Given the description of an element on the screen output the (x, y) to click on. 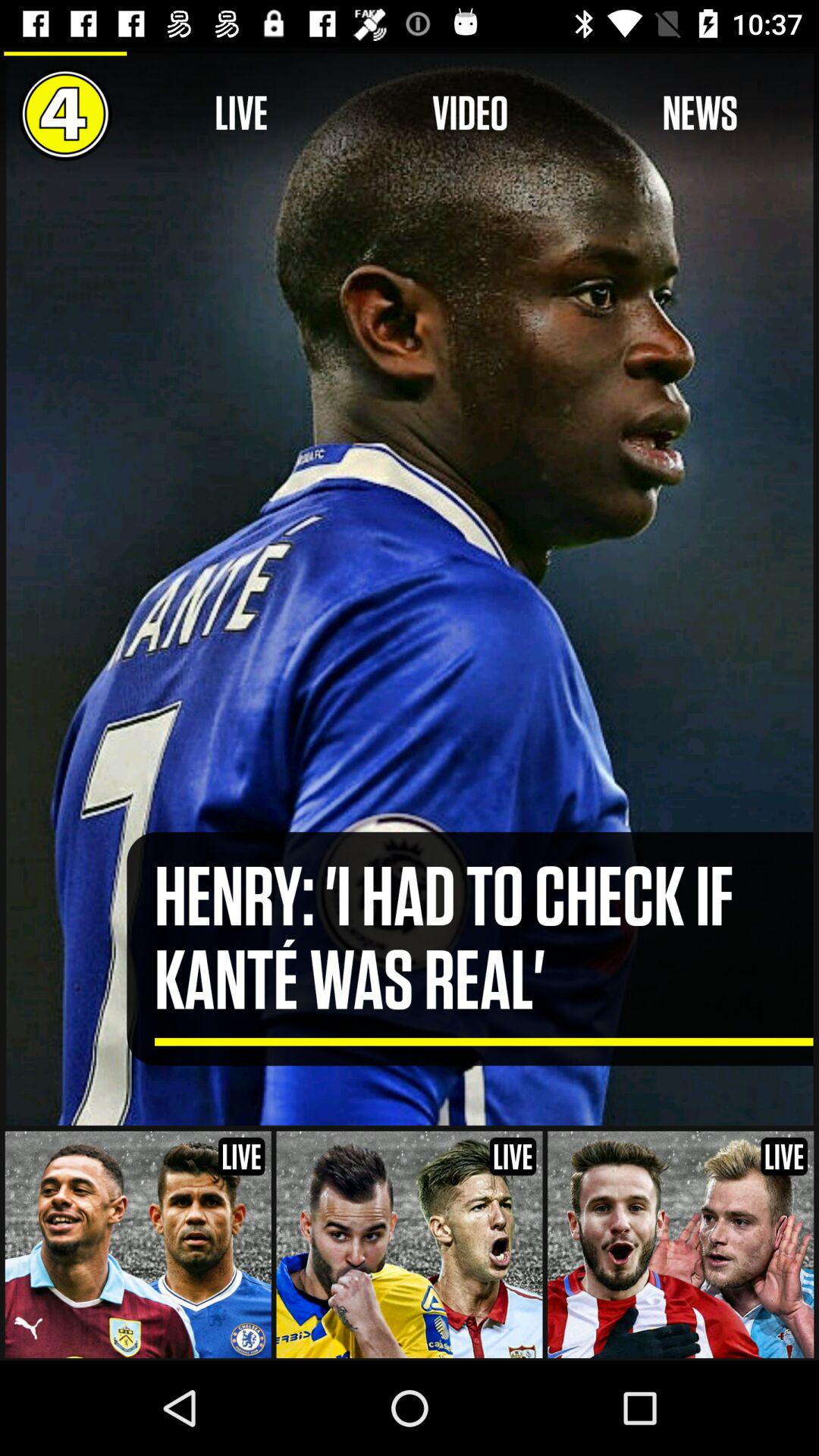
tap the app next to the live icon (470, 113)
